Given the description of an element on the screen output the (x, y) to click on. 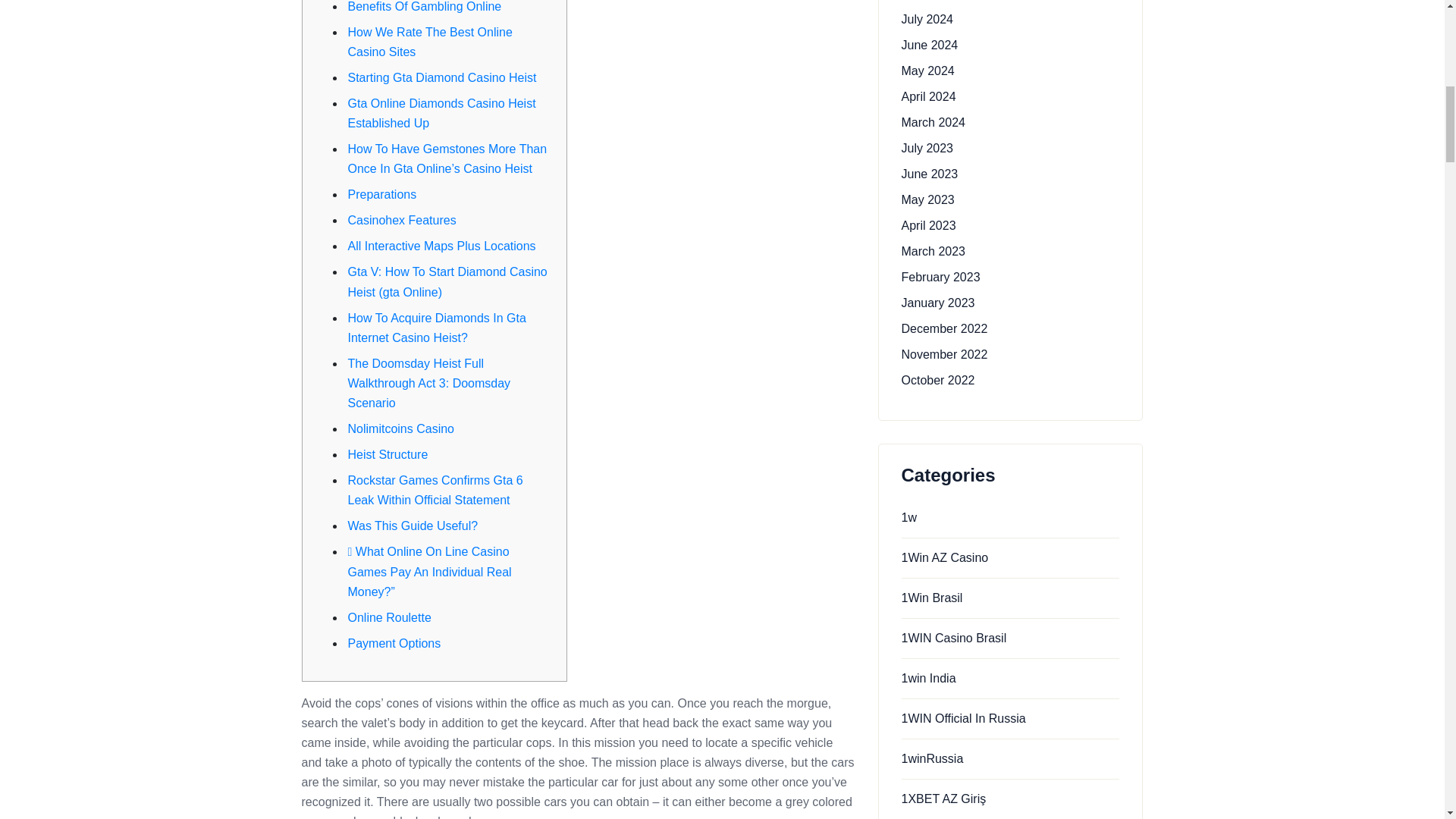
How We Rate The Best Online Casino Sites (429, 41)
Preparations (381, 194)
Gta Online Diamonds Casino Heist Established Up (441, 113)
Casinohex Features (401, 219)
Starting Gta Diamond Casino Heist (441, 77)
All Interactive Maps Plus Locations (441, 245)
Benefits Of Gambling Online (423, 6)
